Given the description of an element on the screen output the (x, y) to click on. 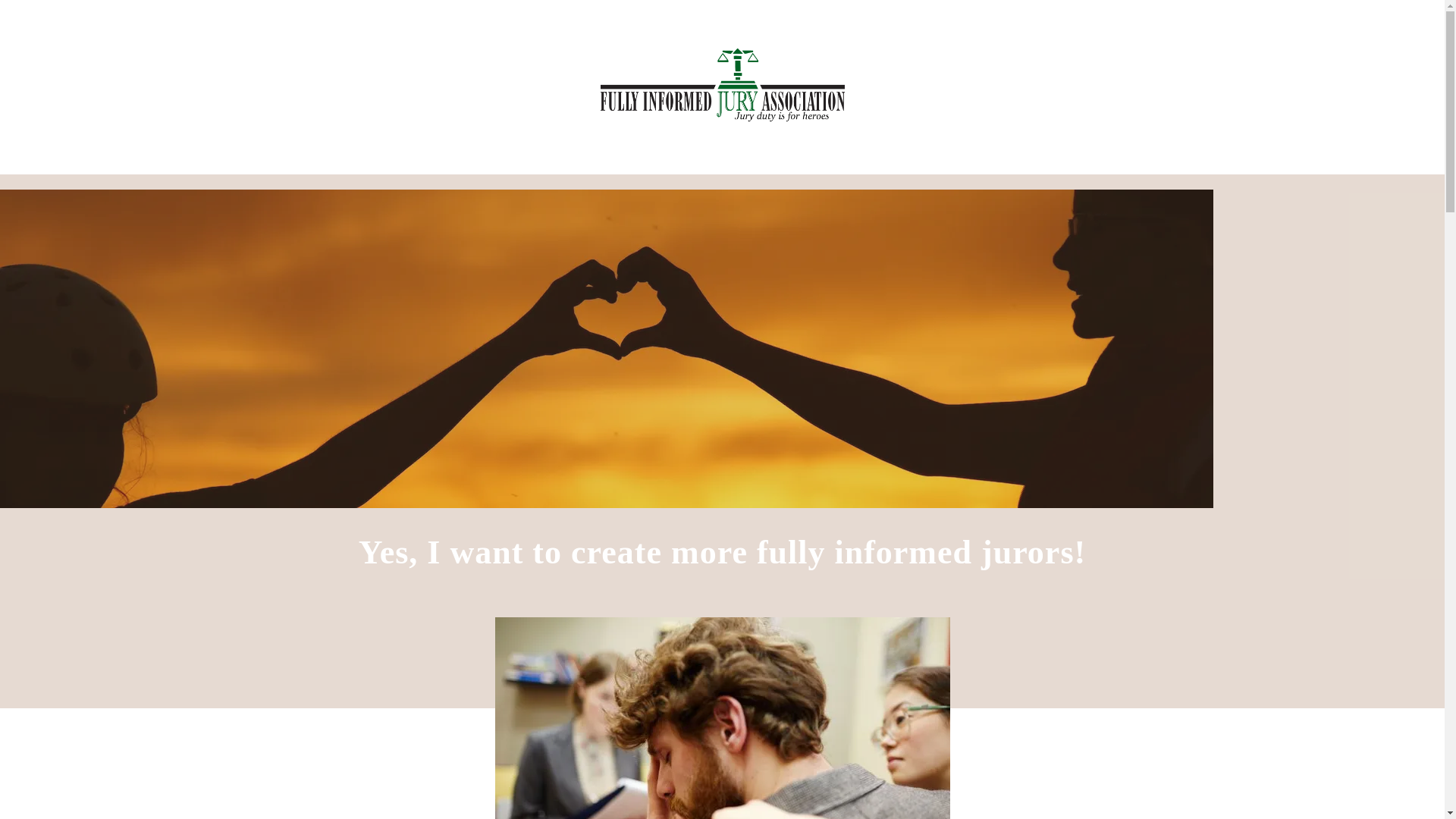
logo (722, 87)
